Given the description of an element on the screen output the (x, y) to click on. 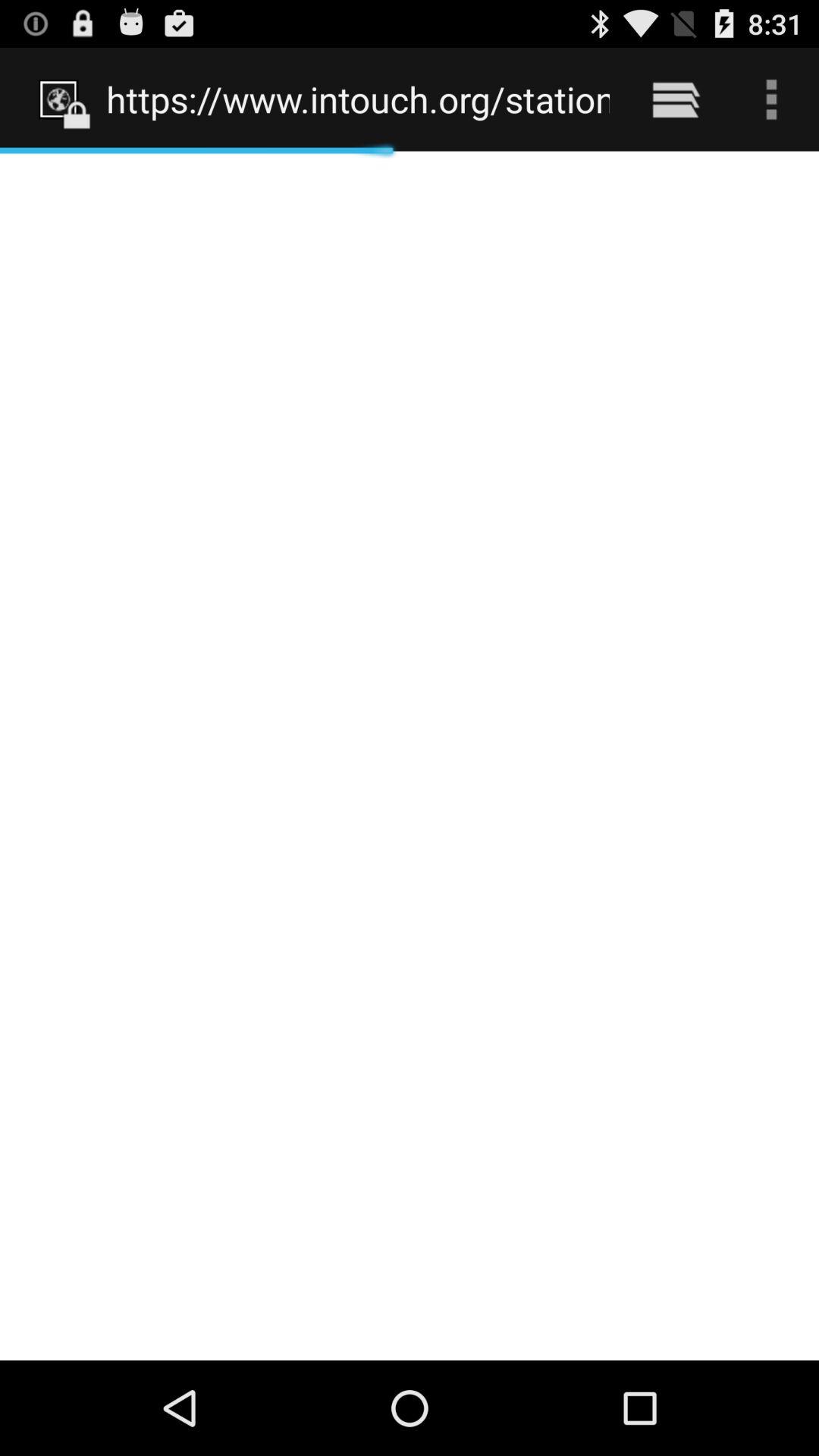
choose icon at the center (409, 755)
